Given the description of an element on the screen output the (x, y) to click on. 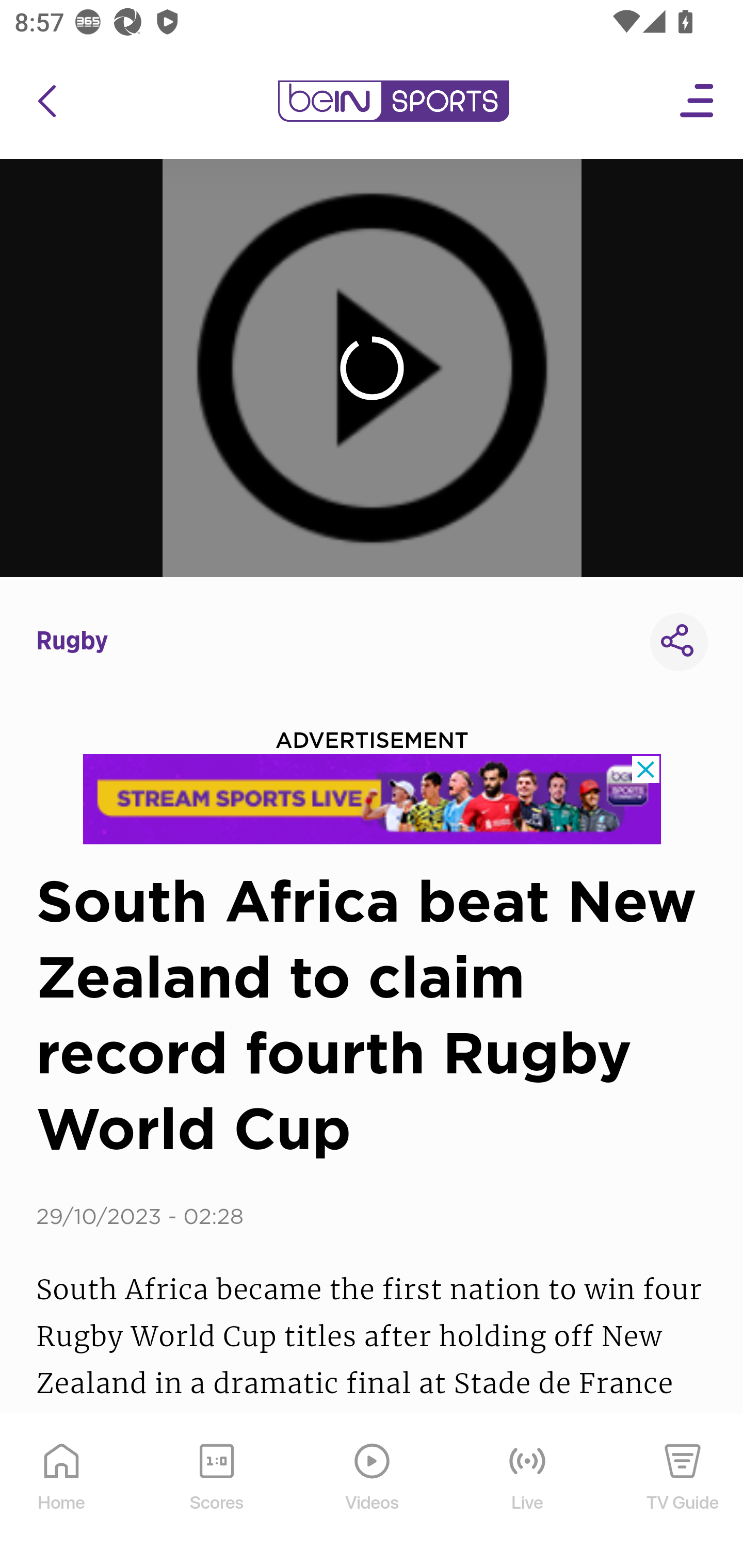
en-my?platform=mobile_android bein logo (392, 101)
icon back (46, 101)
Open Menu Icon (697, 101)
l8psv8uu (372, 799)
Home Home Icon Home (61, 1491)
Scores Scores Icon Scores (216, 1491)
Videos Videos Icon Videos (372, 1491)
TV Guide TV Guide Icon TV Guide (682, 1491)
